Given the description of an element on the screen output the (x, y) to click on. 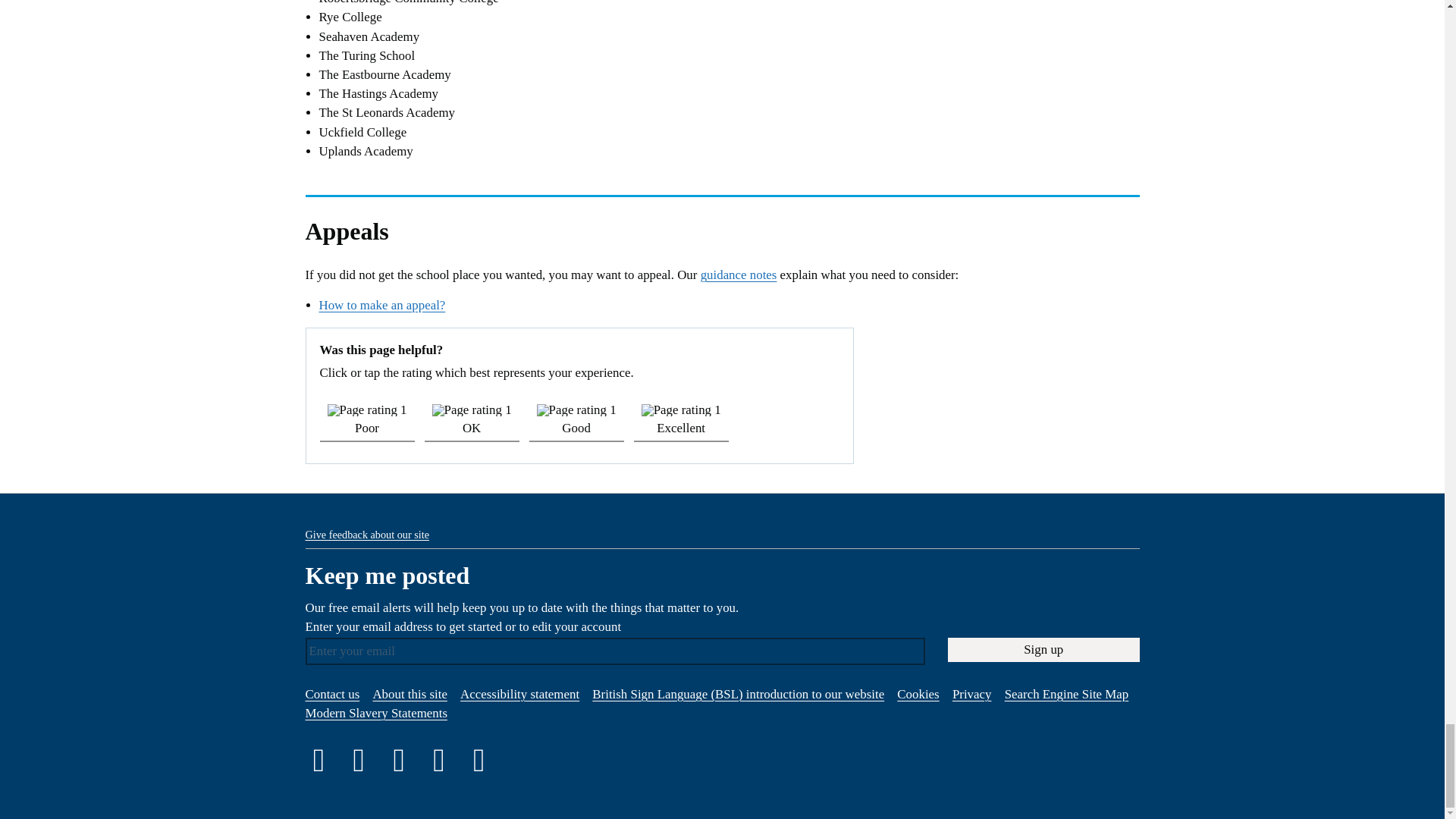
About this site (409, 694)
OK (472, 418)
How to make an appeal? (381, 305)
Sign up (1043, 649)
Detailed guidance on school admission appeals (738, 274)
Contact us (331, 694)
Accessibility statement (519, 694)
Poor (367, 418)
Give feedback about our site (366, 534)
How to make an appeal (381, 305)
guidance notes (738, 274)
Cookies (917, 694)
Excellent (681, 418)
Good (576, 418)
